Given the description of an element on the screen output the (x, y) to click on. 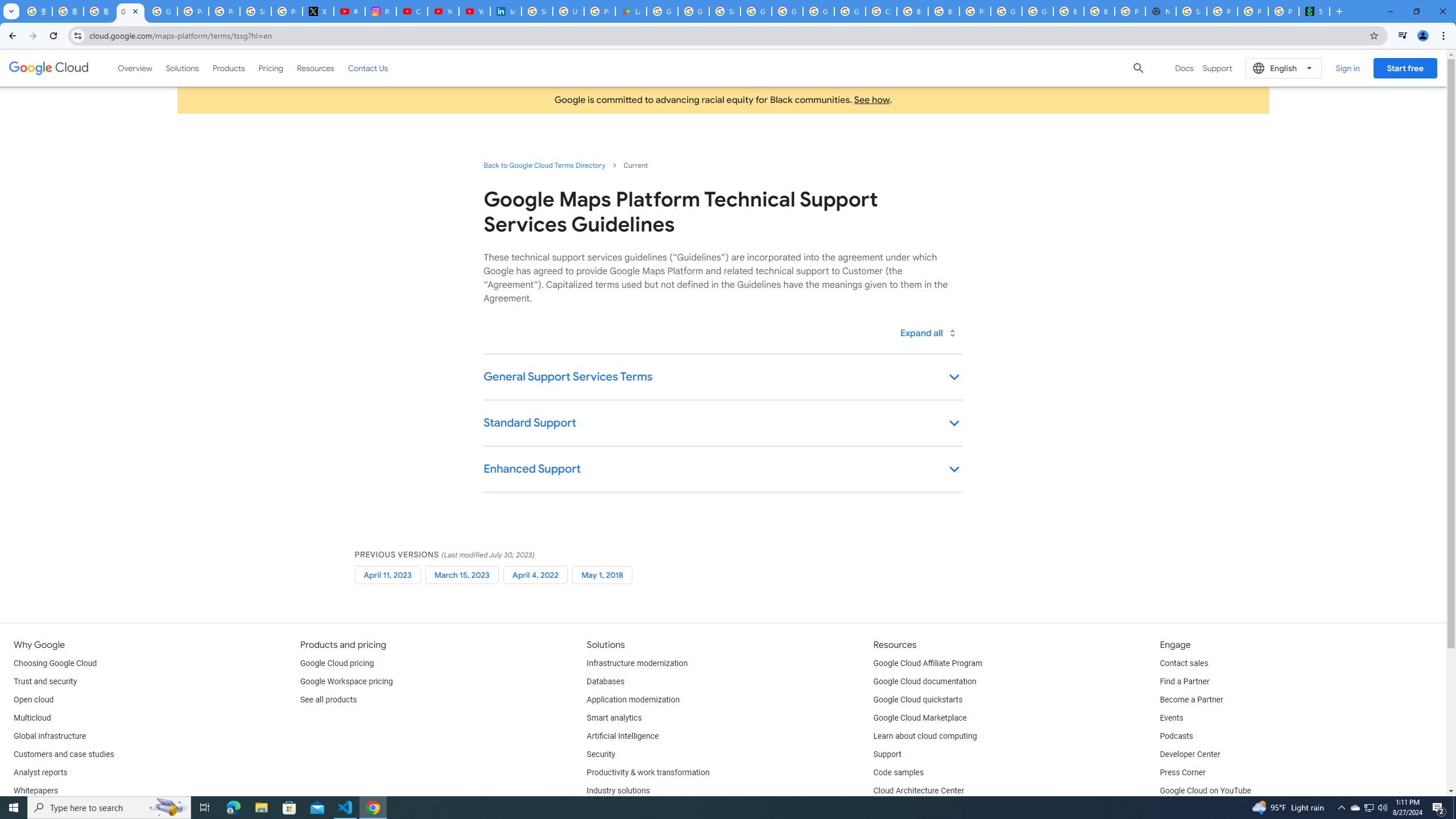
Pricing (270, 67)
Open cloud (33, 700)
Google Cloud on YouTube (1204, 791)
New Tab (1160, 11)
Docs (1183, 67)
Enhanced Support keyboard_arrow_down (722, 470)
Code samples (898, 773)
Google Cloud (48, 67)
General Support Services Terms keyboard_arrow_down (722, 377)
Podcasts (1175, 736)
Sign in - Google Accounts (536, 11)
